Given the description of an element on the screen output the (x, y) to click on. 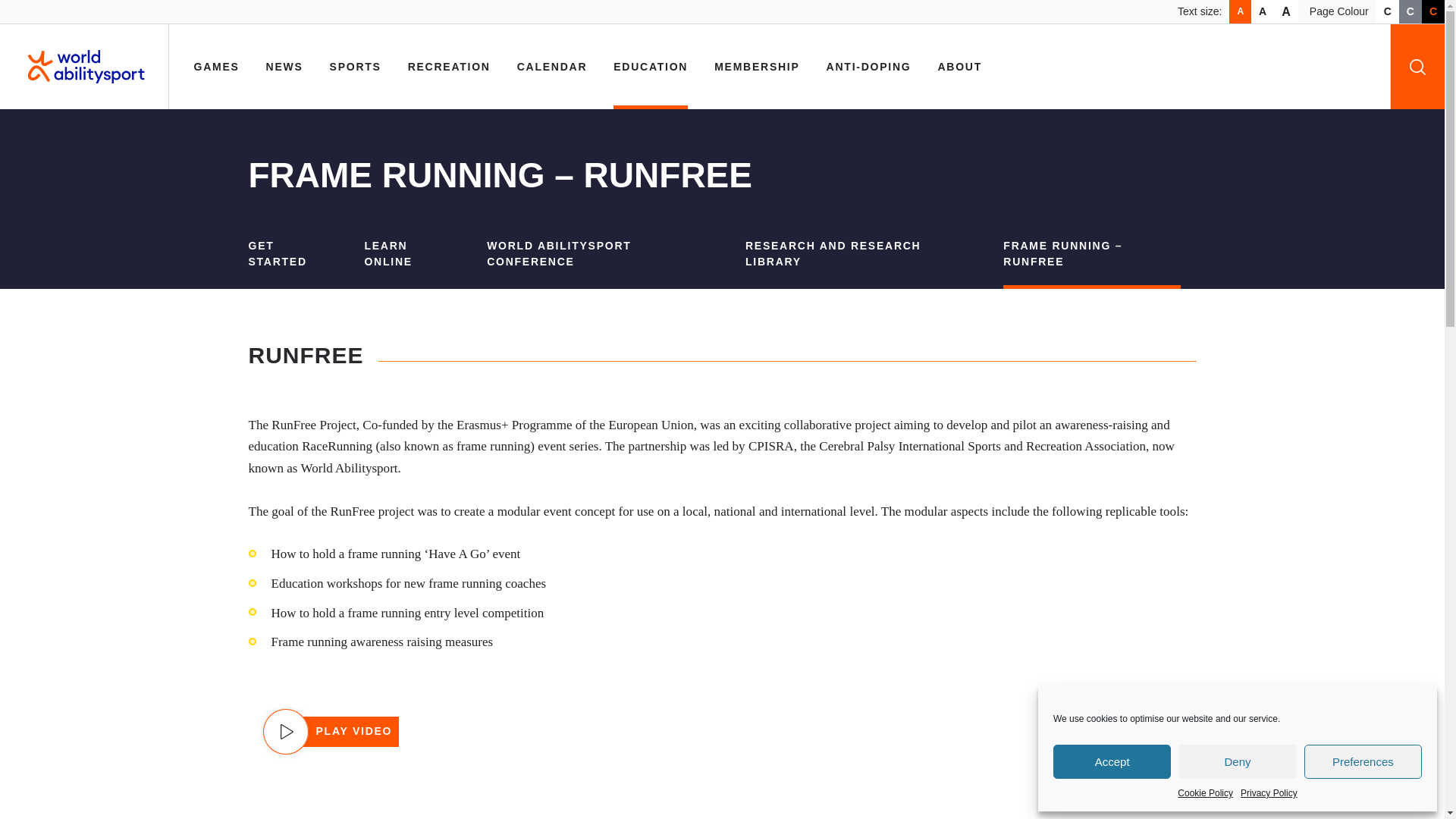
Page background color white (1387, 11)
Privacy Policy (1268, 793)
Text size medium (1262, 11)
GAMES (216, 66)
A (1239, 11)
Deny (1236, 761)
Games (216, 66)
NEWS (284, 66)
C (1410, 11)
Accept (1111, 761)
Cookie Policy (1205, 793)
A (1286, 11)
C (1387, 11)
SPORTS (355, 66)
Page background color gray (1410, 11)
